Given the description of an element on the screen output the (x, y) to click on. 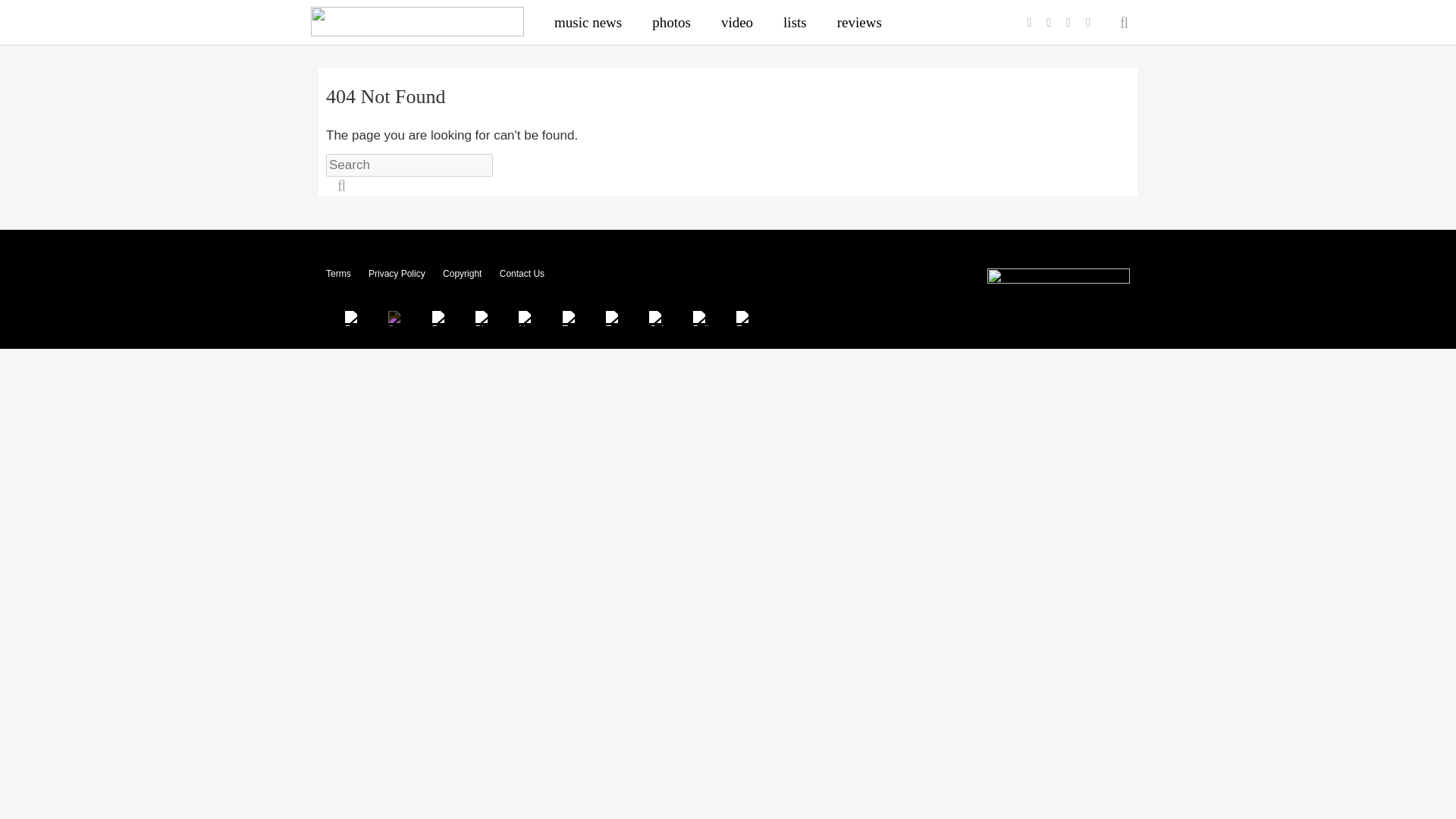
Taco Relish (612, 318)
Quizscape (656, 318)
Daily Funny (699, 318)
Explored Hollywood (743, 318)
Terms (338, 273)
reviews (859, 22)
Hooch (526, 318)
Privacy Policy (396, 273)
Buzznet (395, 318)
Trend Chaser (570, 318)
